Given the description of an element on the screen output the (x, y) to click on. 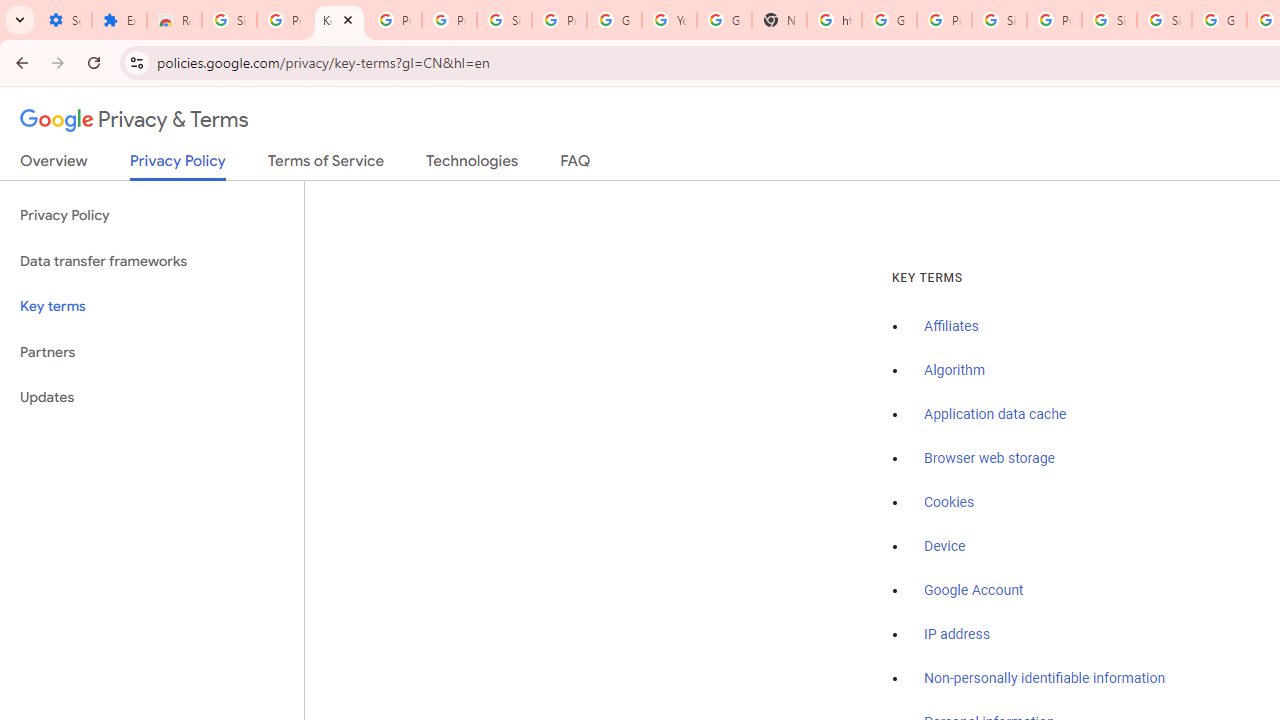
Device (945, 546)
Browser web storage (989, 459)
IP address (956, 634)
Non-personally identifiable information (1045, 679)
Cookies (949, 502)
